Given the description of an element on the screen output the (x, y) to click on. 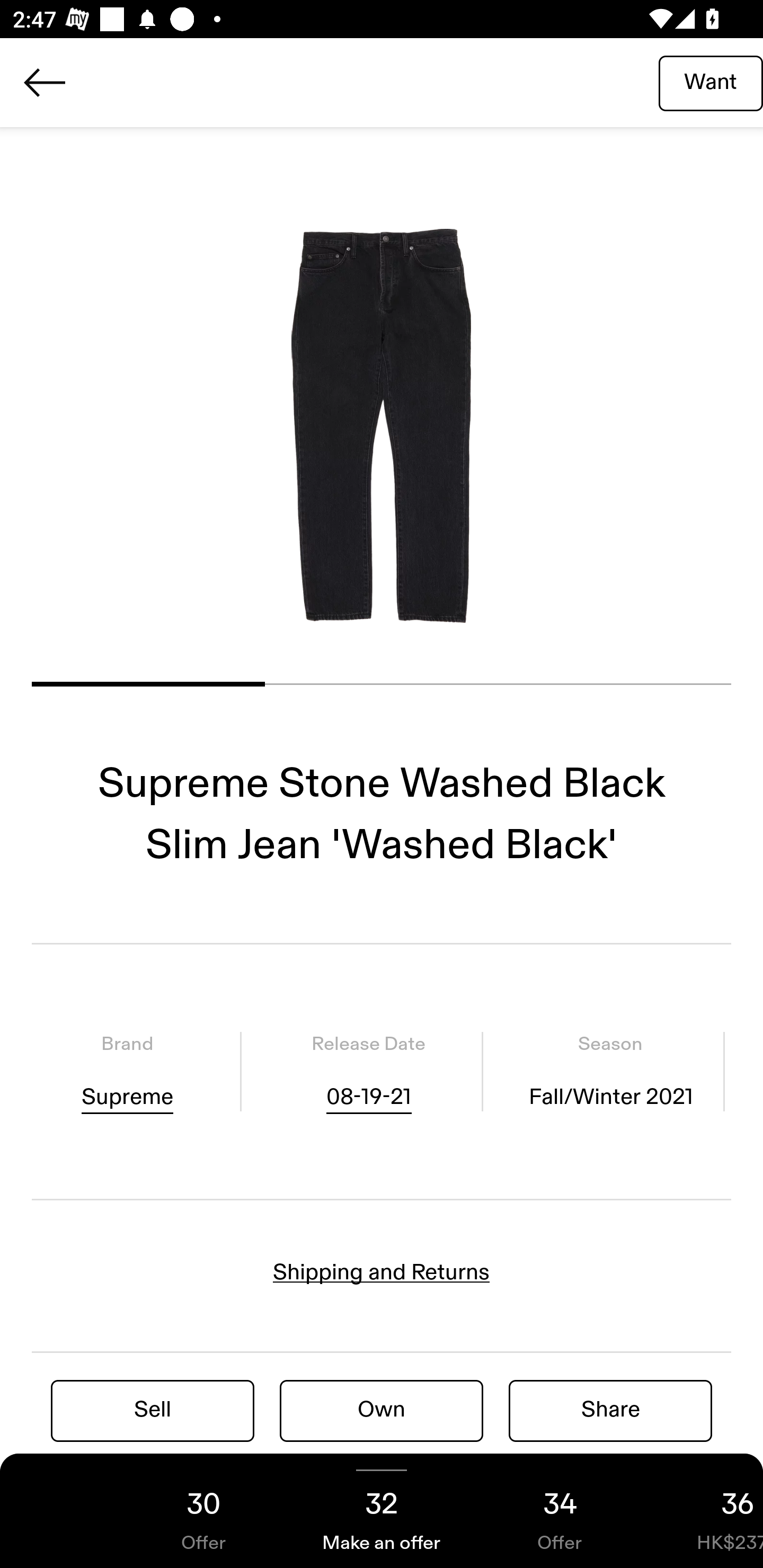
Want (710, 82)
Brand Supreme (126, 1070)
Release Date 08-19-21 (368, 1070)
Season Fall/Winter 2021 (609, 1070)
Shipping and Returns (381, 1272)
Sell (152, 1410)
Own (381, 1410)
Share (609, 1410)
30 Offer (203, 1510)
32 Make an offer (381, 1510)
34 Offer (559, 1510)
36 HK$2373 (705, 1510)
